Given the description of an element on the screen output the (x, y) to click on. 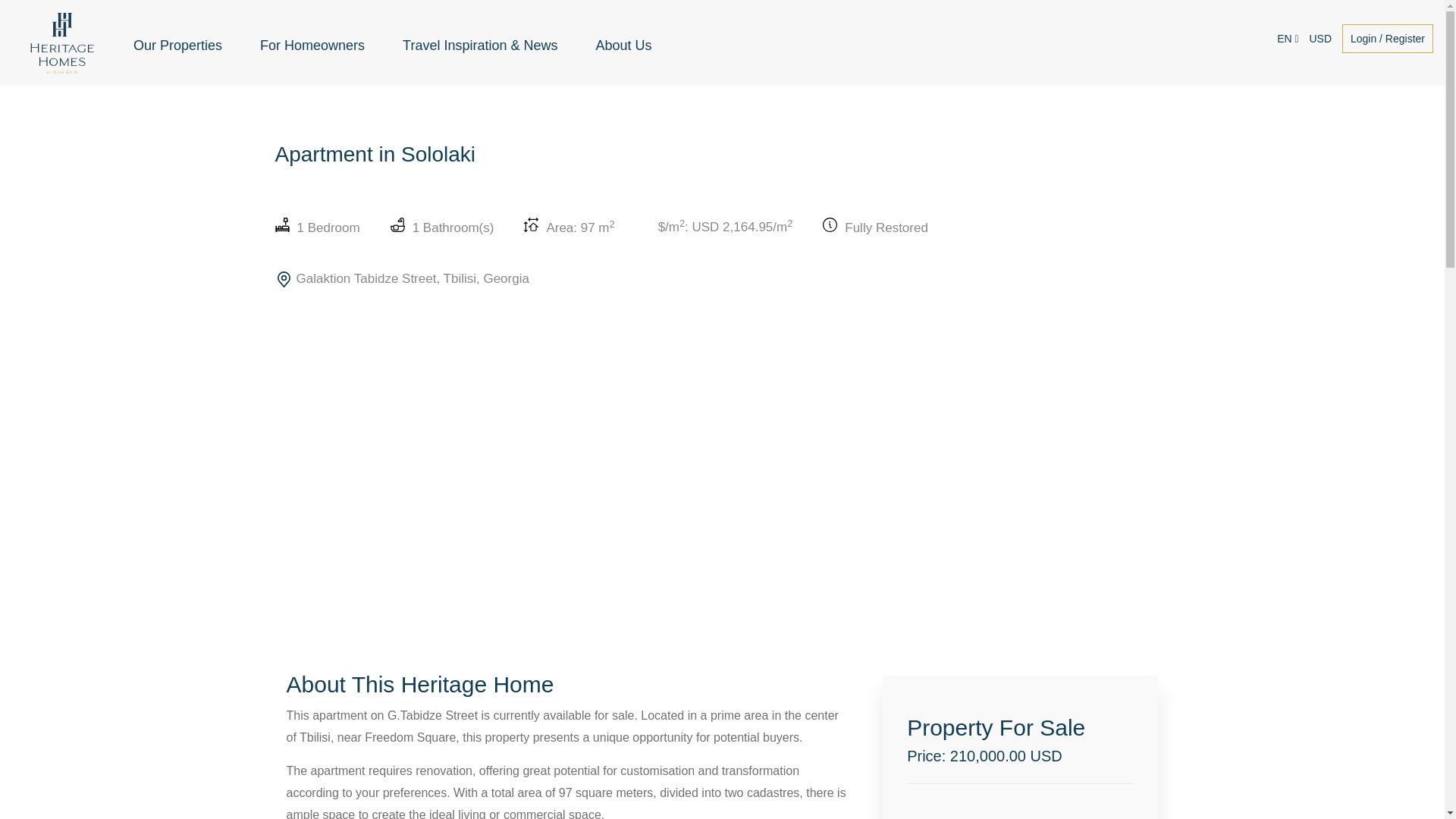
About Us (623, 45)
For Homeowners (312, 45)
Our Properties (178, 45)
